Given the description of an element on the screen output the (x, y) to click on. 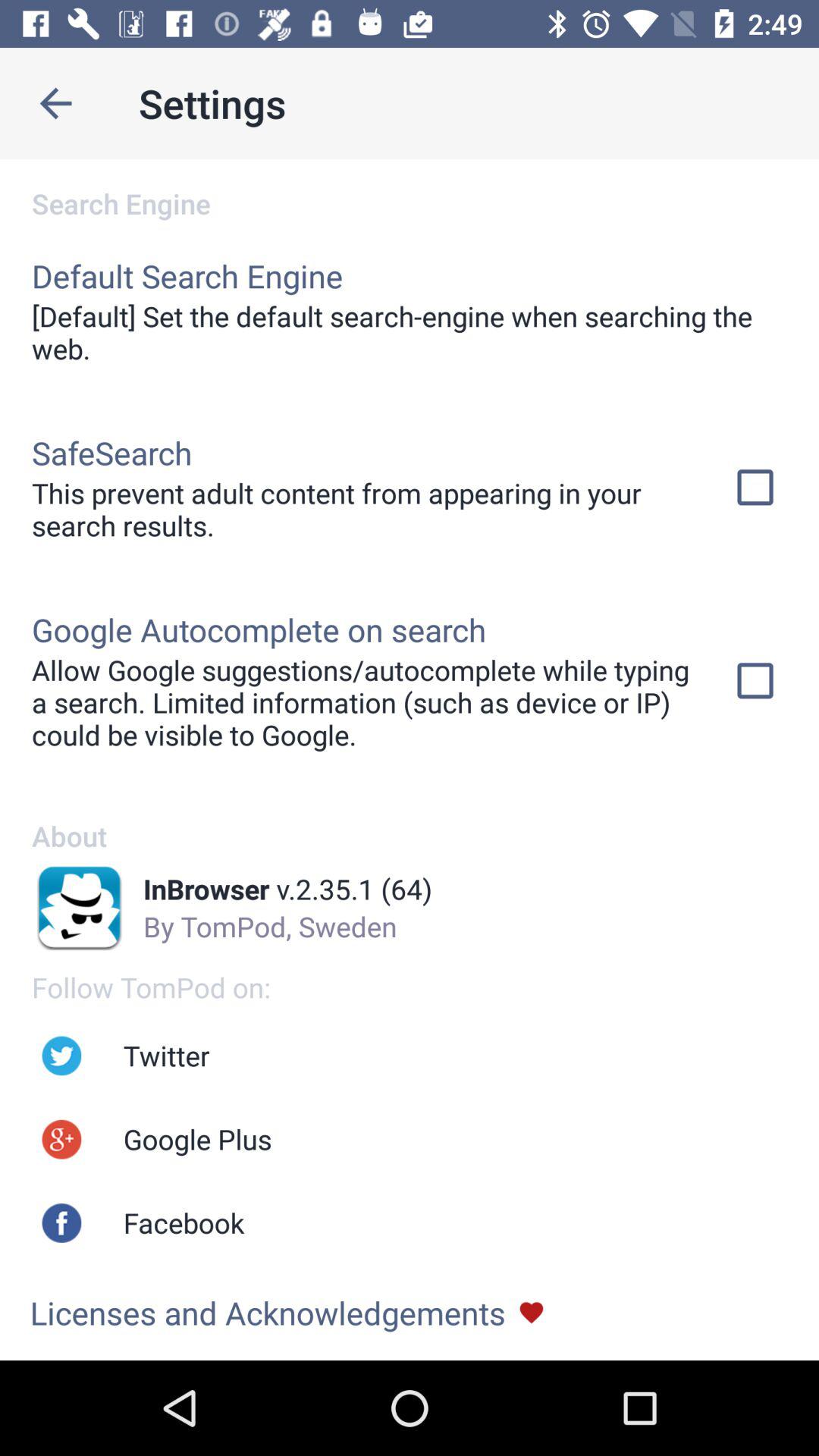
turn on the app above the by tompod, sweden item (287, 888)
